Given the description of an element on the screen output the (x, y) to click on. 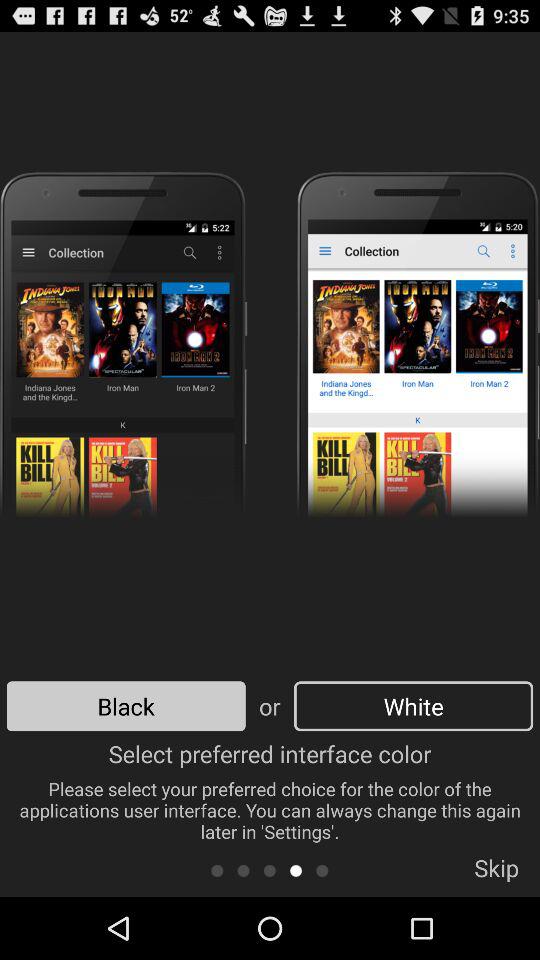
tap the icon to the left of or (125, 706)
